Given the description of an element on the screen output the (x, y) to click on. 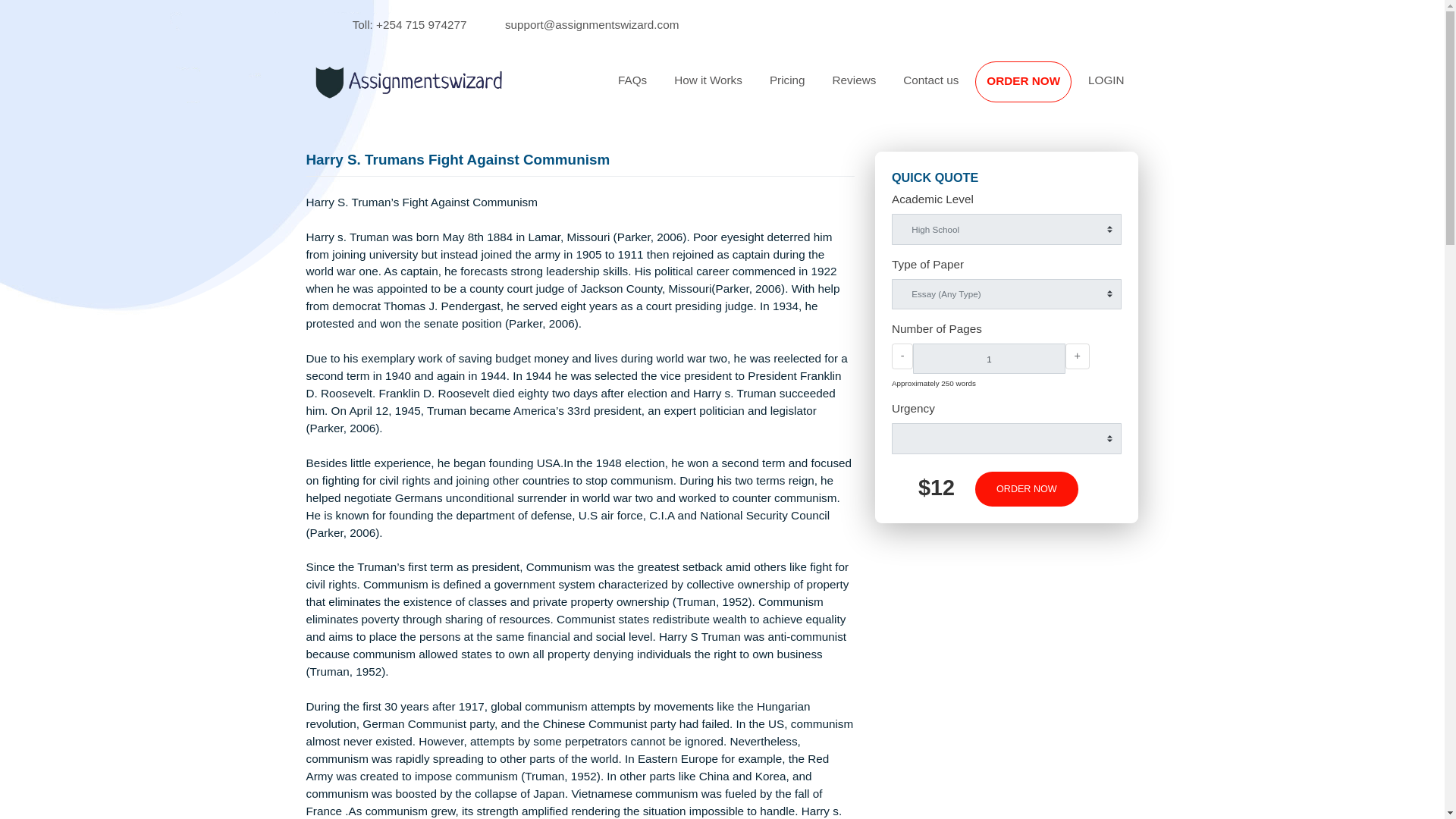
LOGIN (1229, 89)
ORDER NOW (1137, 90)
1 (1098, 398)
Pricing (875, 89)
How it Works (786, 89)
How it Works (786, 89)
Contact us (1034, 89)
LOGIN (1229, 89)
ORDER NOW (1137, 90)
FAQs (702, 89)
